Given the description of an element on the screen output the (x, y) to click on. 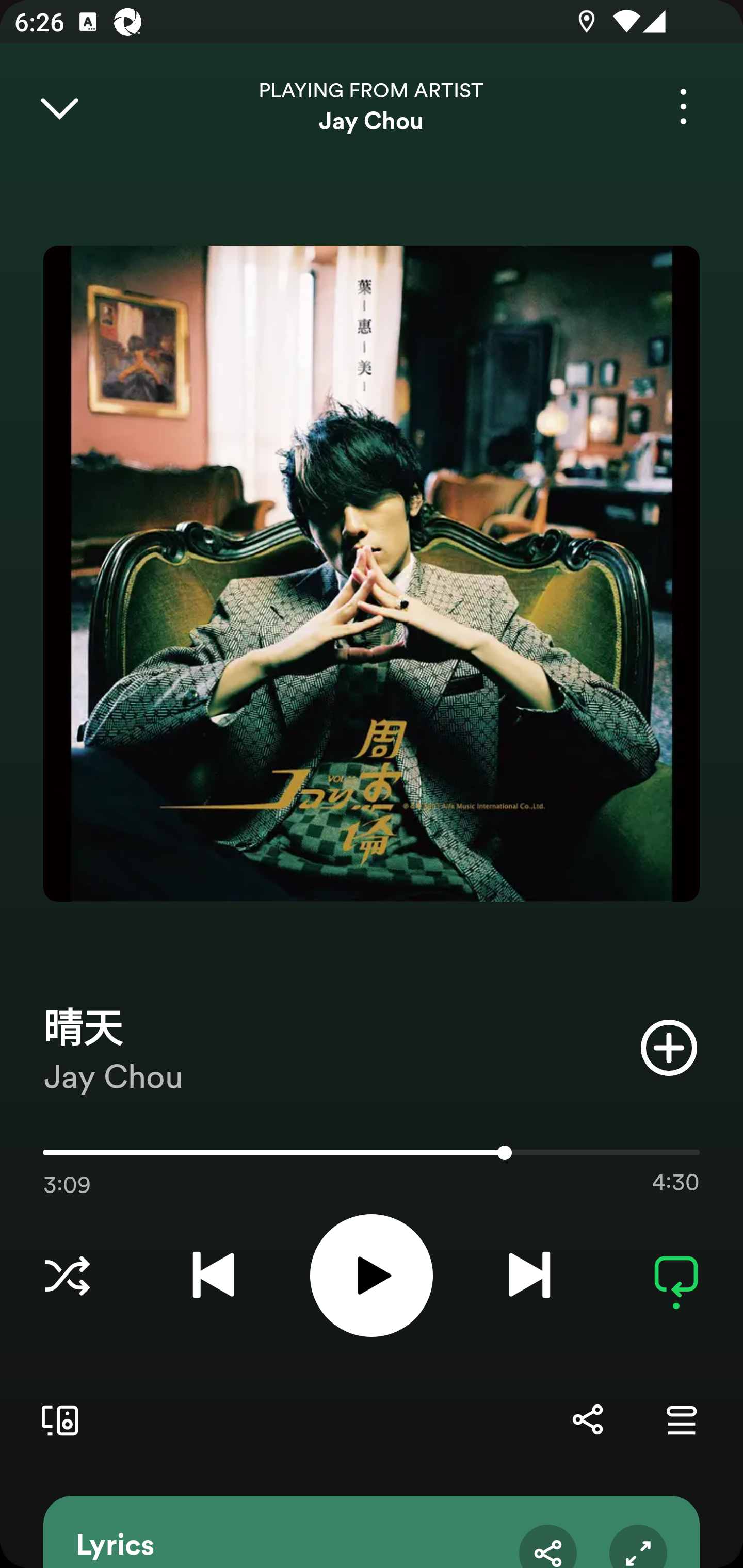
Close (59, 106)
More options for song 晴天 (683, 106)
PLAYING FROM ARTIST Jay Chou (371, 106)
Add item (669, 1046)
3:09 4:30 189776.0 Use volume keys to adjust (371, 1157)
Play (371, 1275)
Previous (212, 1275)
Next (529, 1275)
Choose a Listening Mode (66, 1275)
Repeat (676, 1275)
Share (587, 1419)
Go to Queue (681, 1419)
Connect to a device. Opens the devices menu (55, 1419)
Lyrics Share Expand (371, 1531)
Share (547, 1546)
Expand (638, 1546)
